Given the description of an element on the screen output the (x, y) to click on. 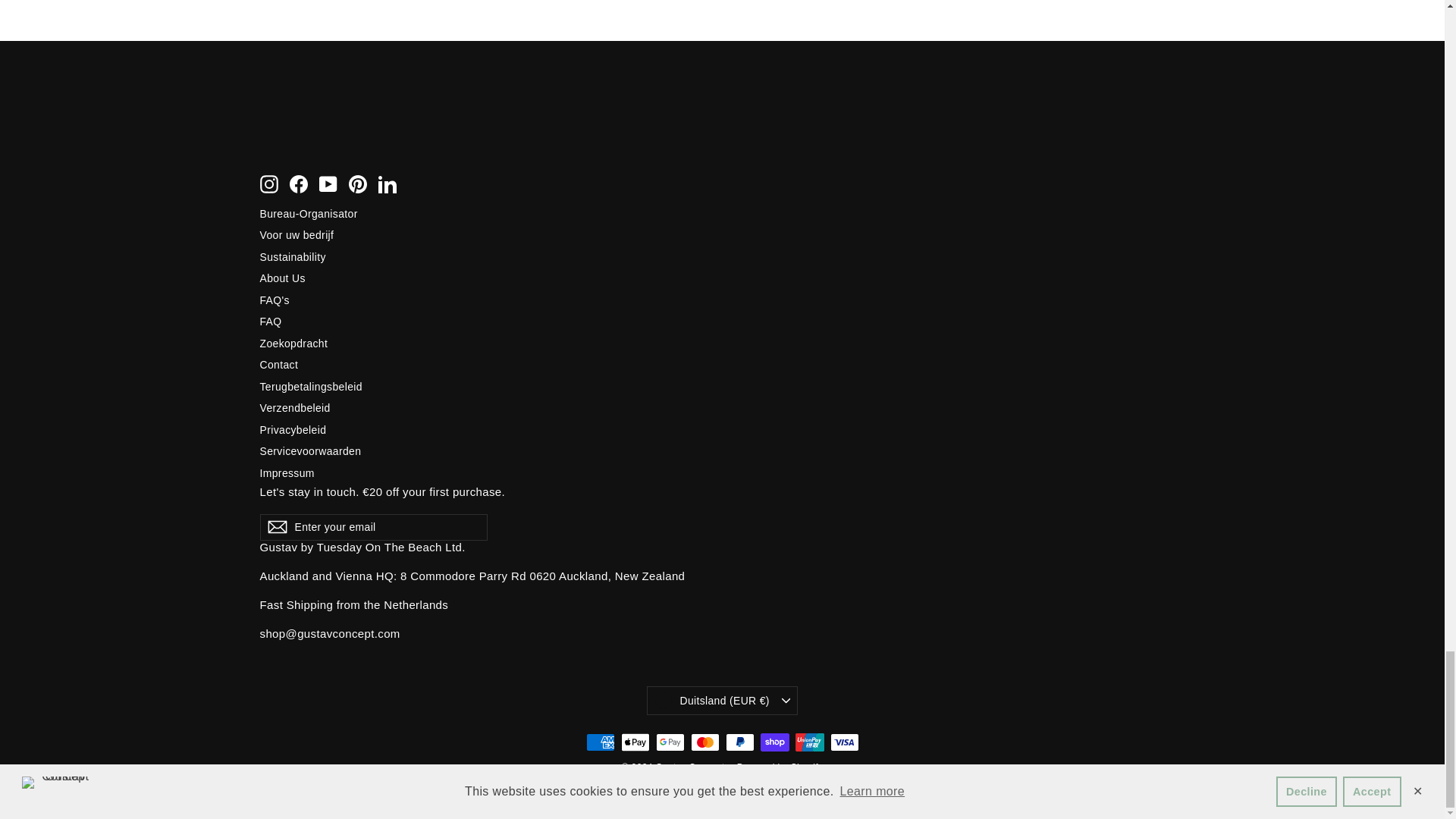
Gustav Concept on Pinterest (357, 184)
American Express (599, 742)
Gustav Concept on Instagram (268, 184)
Apple Pay (634, 742)
Gustav Concept on YouTube (327, 184)
Mastercard (704, 742)
Gustav Concept on Facebook (298, 184)
Gustav Concept on LinkedIn (386, 184)
instagram (268, 184)
PayPal (739, 742)
